Given the description of an element on the screen output the (x, y) to click on. 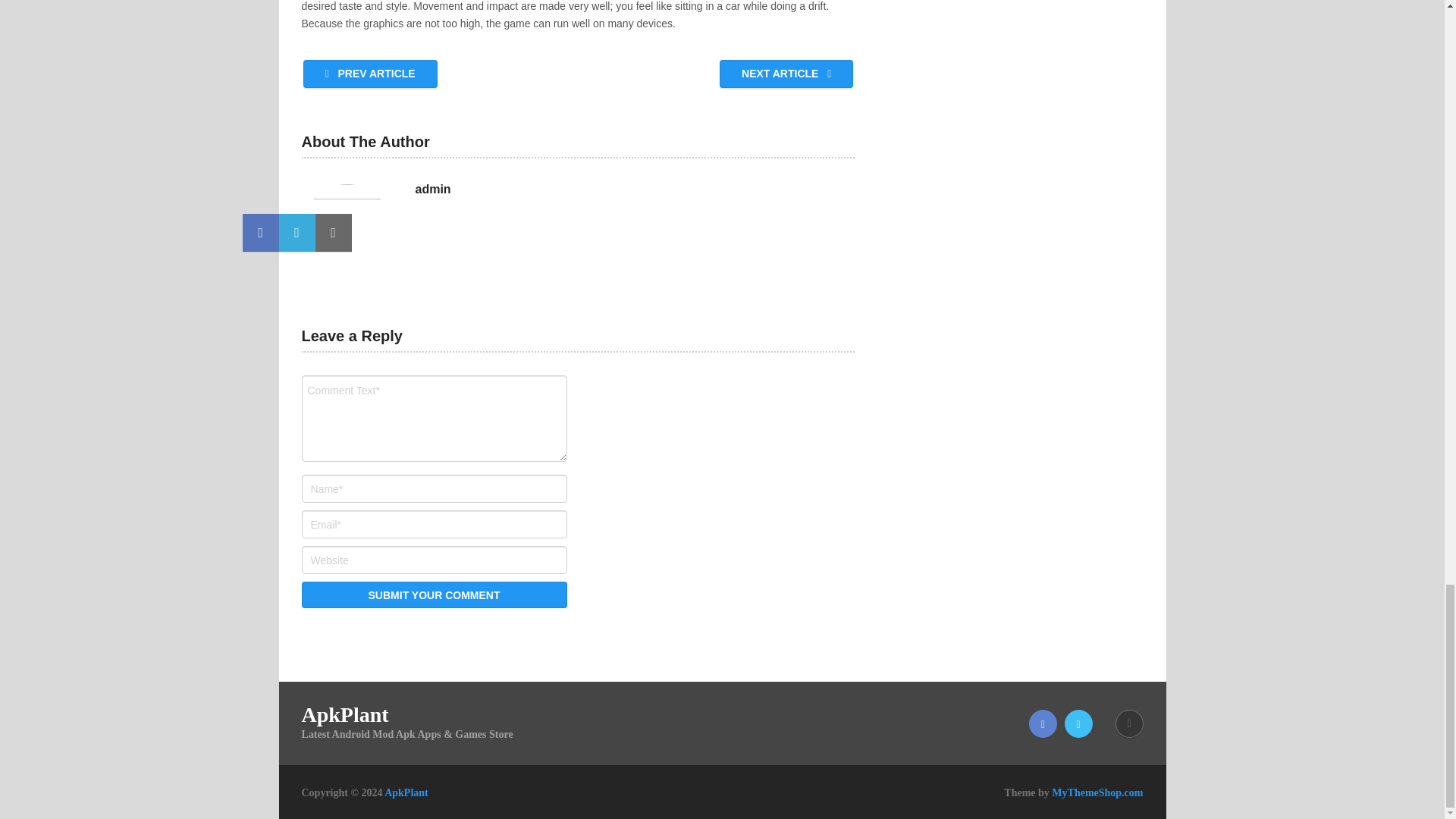
Submit Your Comment (434, 594)
